Given the description of an element on the screen output the (x, y) to click on. 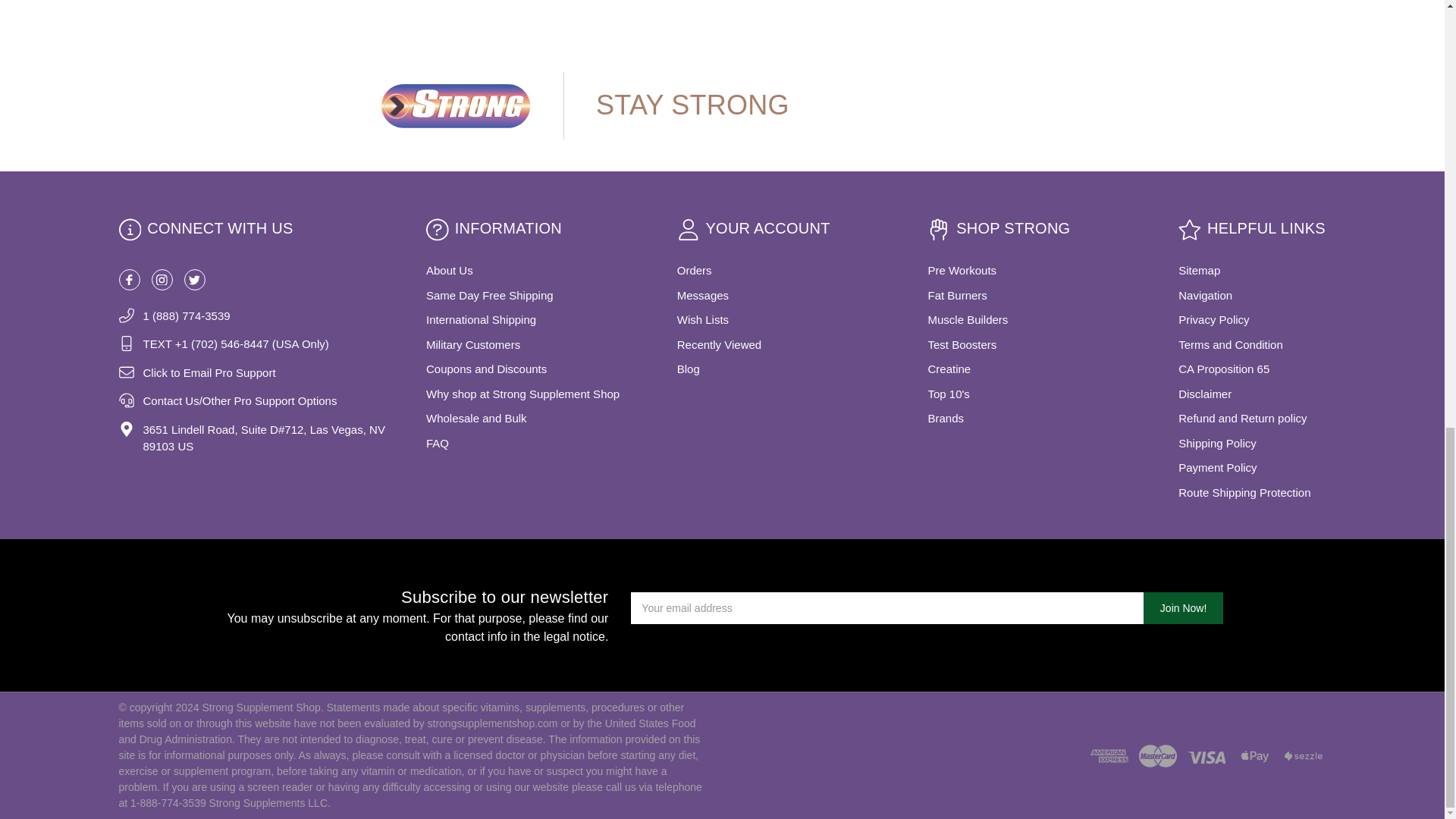
Strong Supplement Shop (455, 105)
Facebook (128, 279)
Join Now! (1182, 608)
Instagram (162, 279)
